Given the description of an element on the screen output the (x, y) to click on. 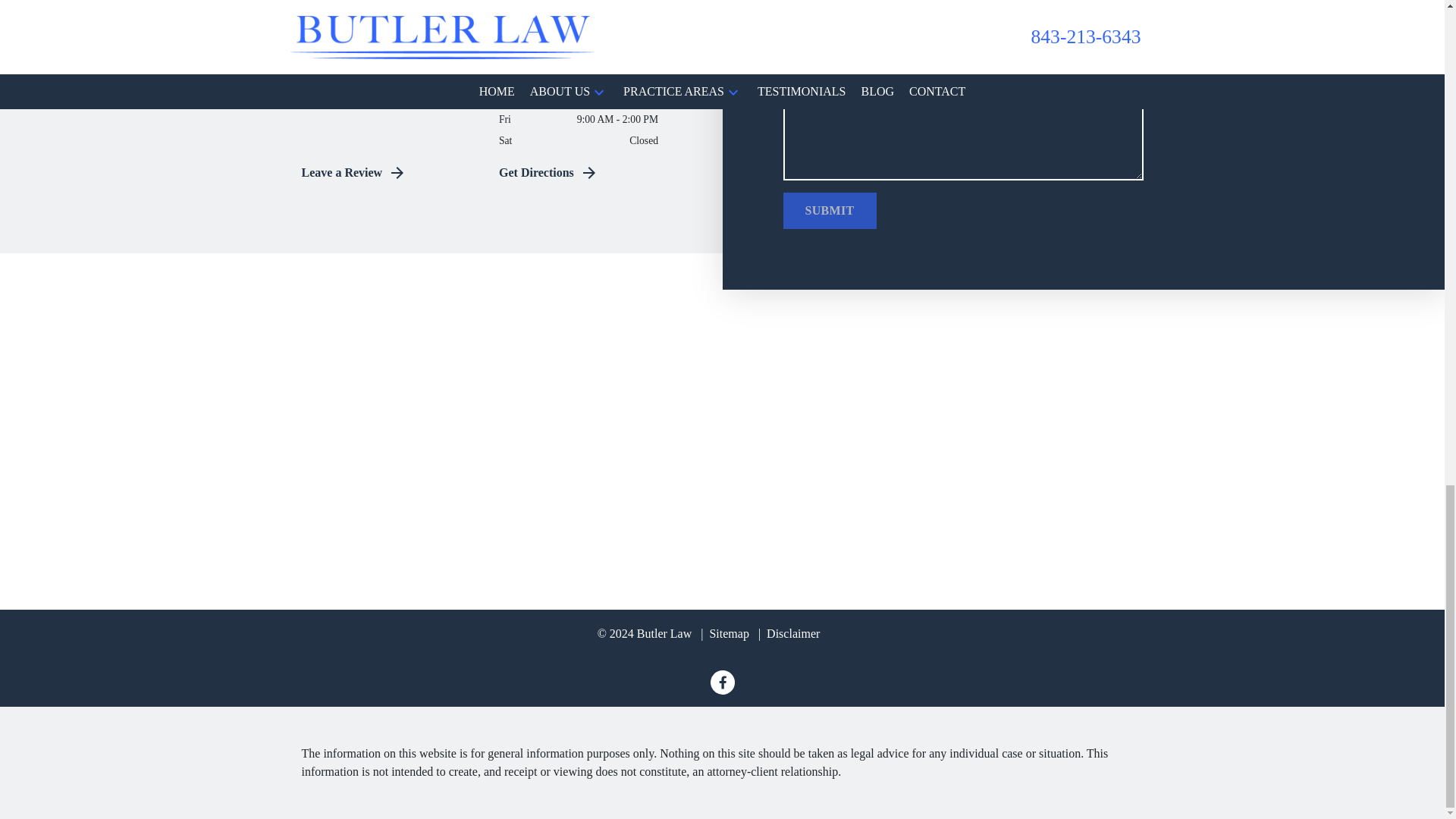
link to call attorney 843-213-6343 (346, 97)
Leave a Review (389, 172)
Disclaimer (788, 633)
Sitemap (724, 633)
SUBMIT (829, 210)
Get Directions (586, 172)
843-213-6343 (389, 40)
